Given the description of an element on the screen output the (x, y) to click on. 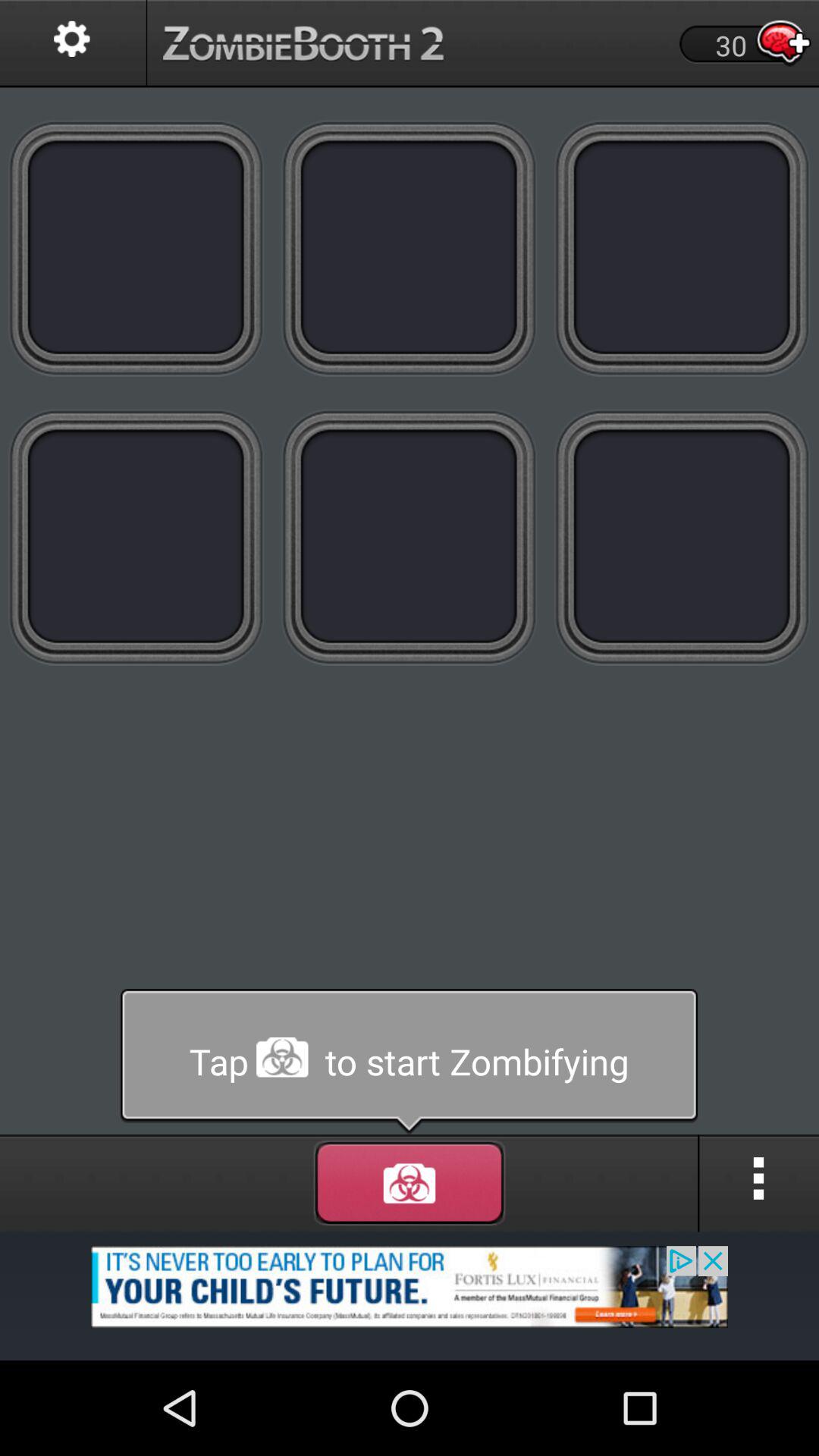
start the effect (409, 1182)
